Given the description of an element on the screen output the (x, y) to click on. 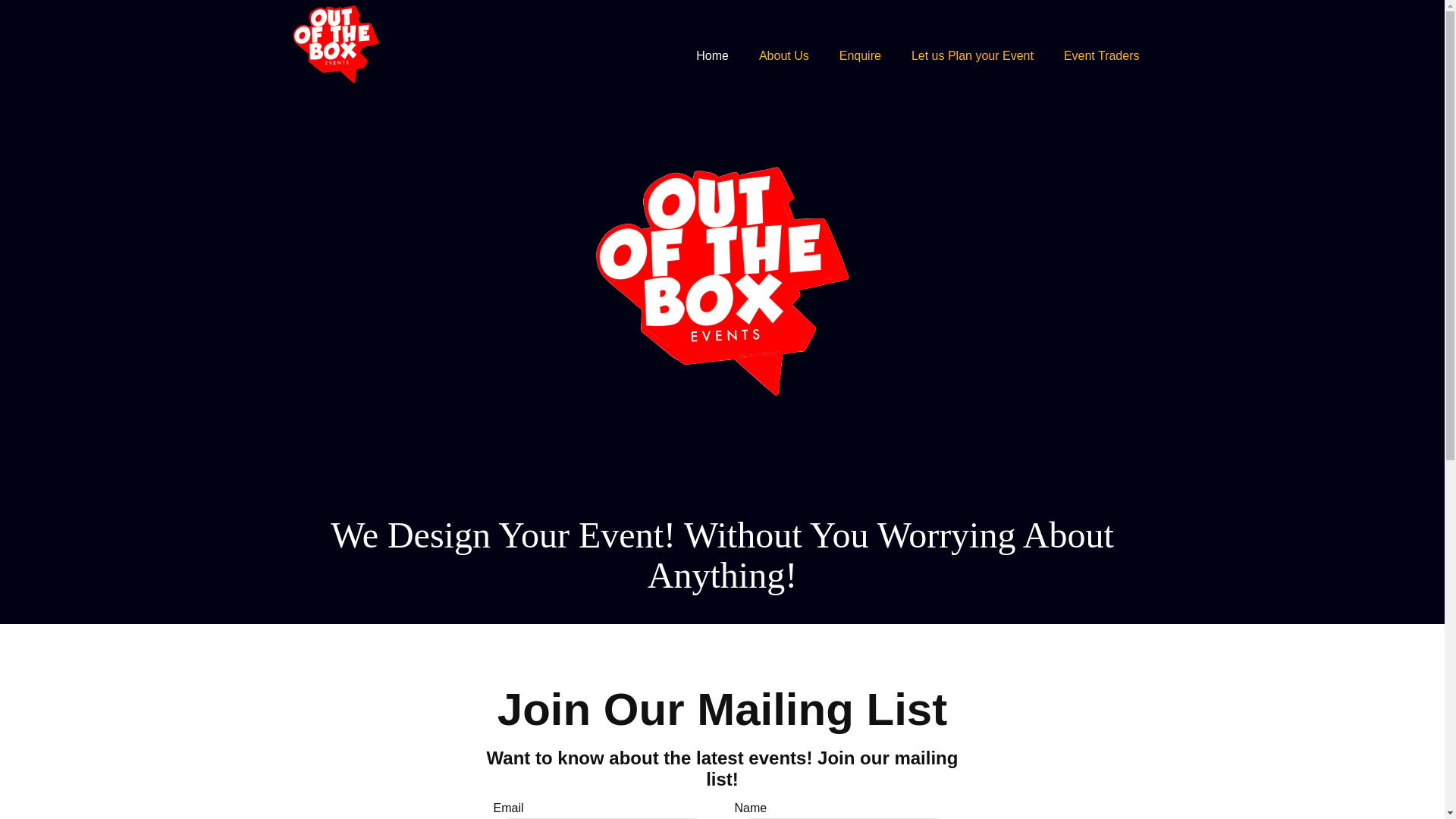
About Us (784, 55)
Let us Plan your Event (972, 55)
Show Nights (1101, 55)
Home (712, 55)
Event Traders (1101, 55)
Enquire (860, 55)
Home (860, 55)
Home (784, 55)
Home (972, 55)
